Given the description of an element on the screen output the (x, y) to click on. 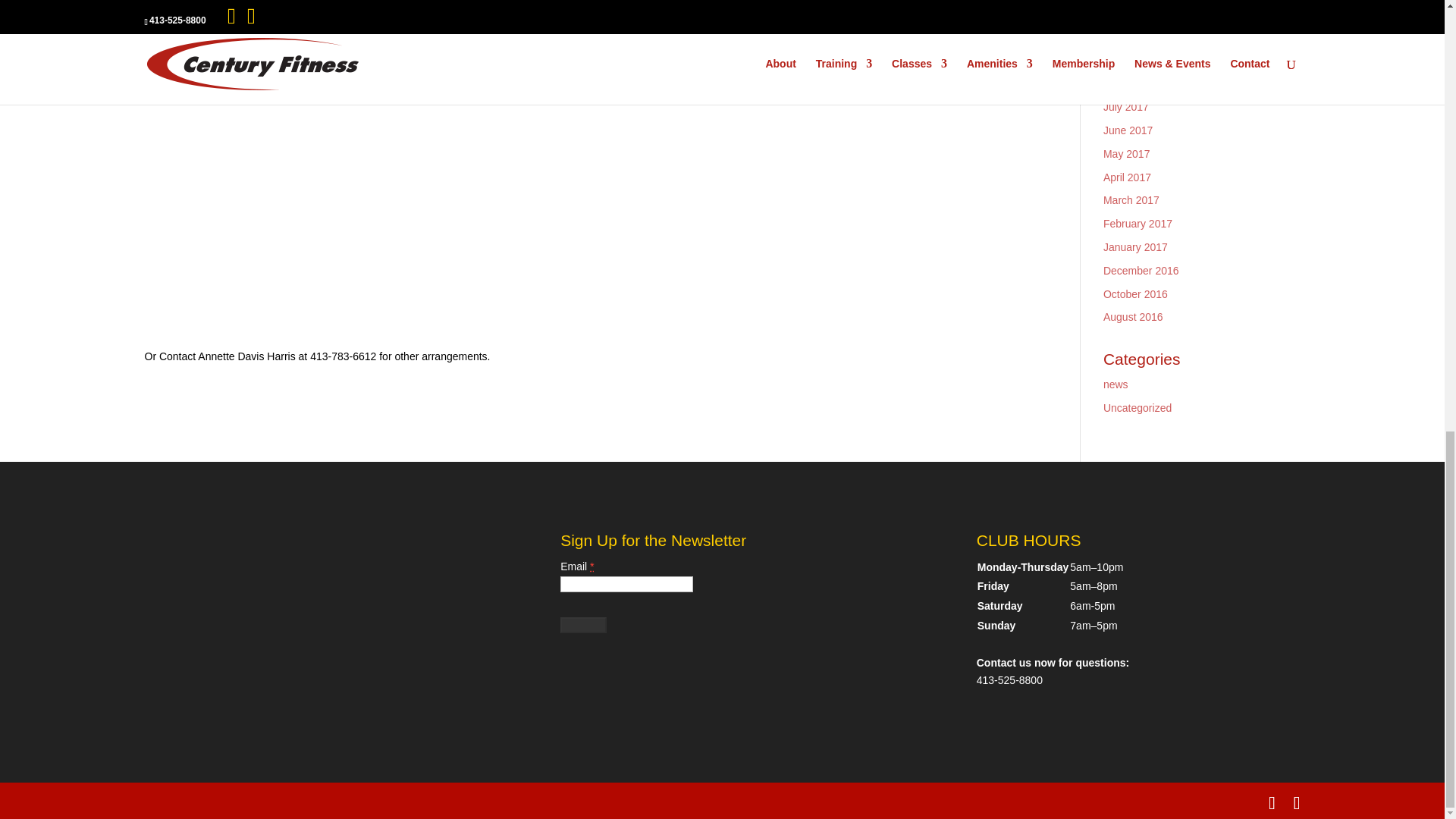
Sign up (583, 625)
required (591, 566)
